Given the description of an element on the screen output the (x, y) to click on. 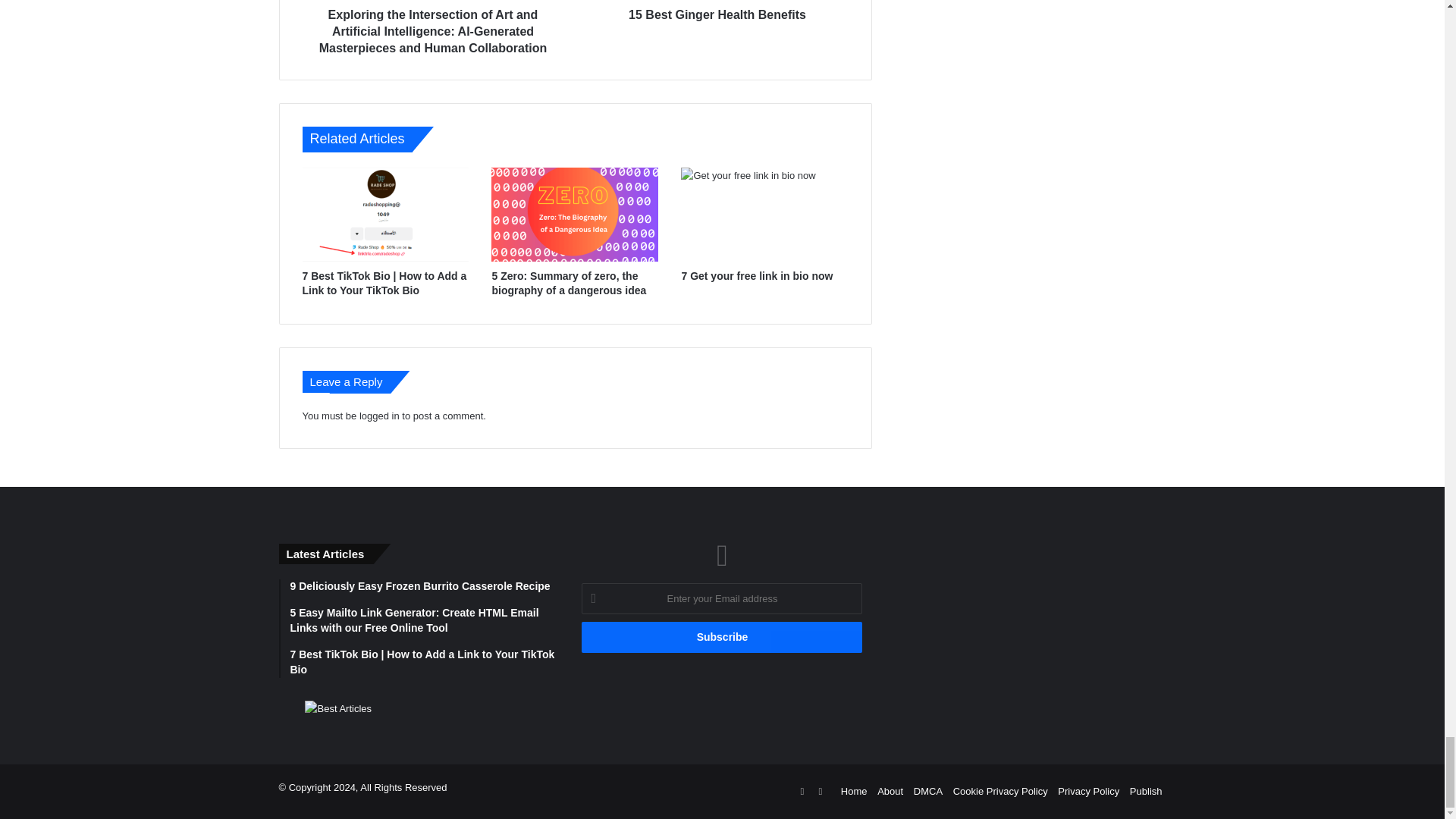
Subscribe (720, 636)
